Given the description of an element on the screen output the (x, y) to click on. 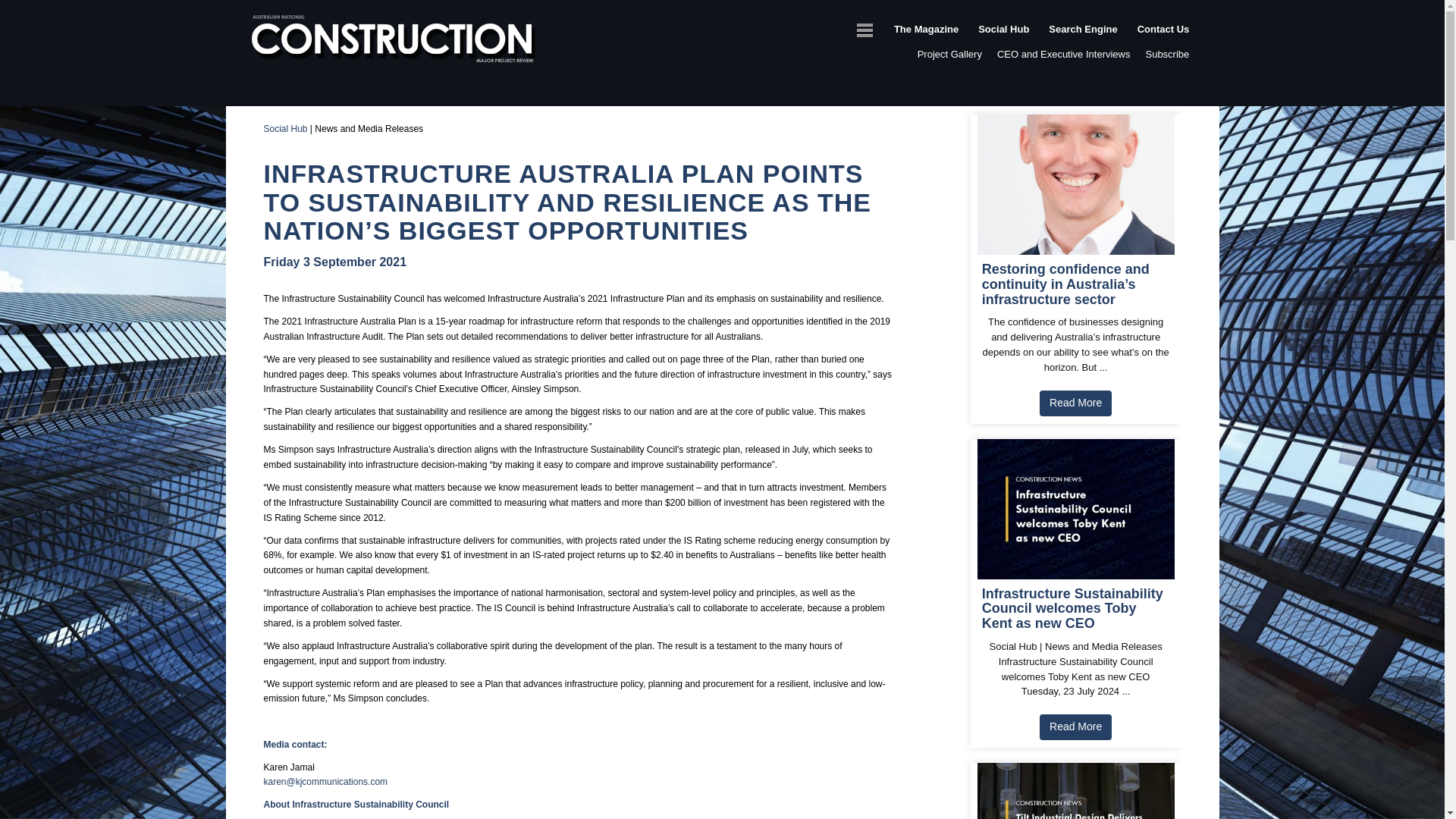
Social Hub (285, 128)
Project Gallery (949, 53)
The Magazine (925, 44)
